Given the description of an element on the screen output the (x, y) to click on. 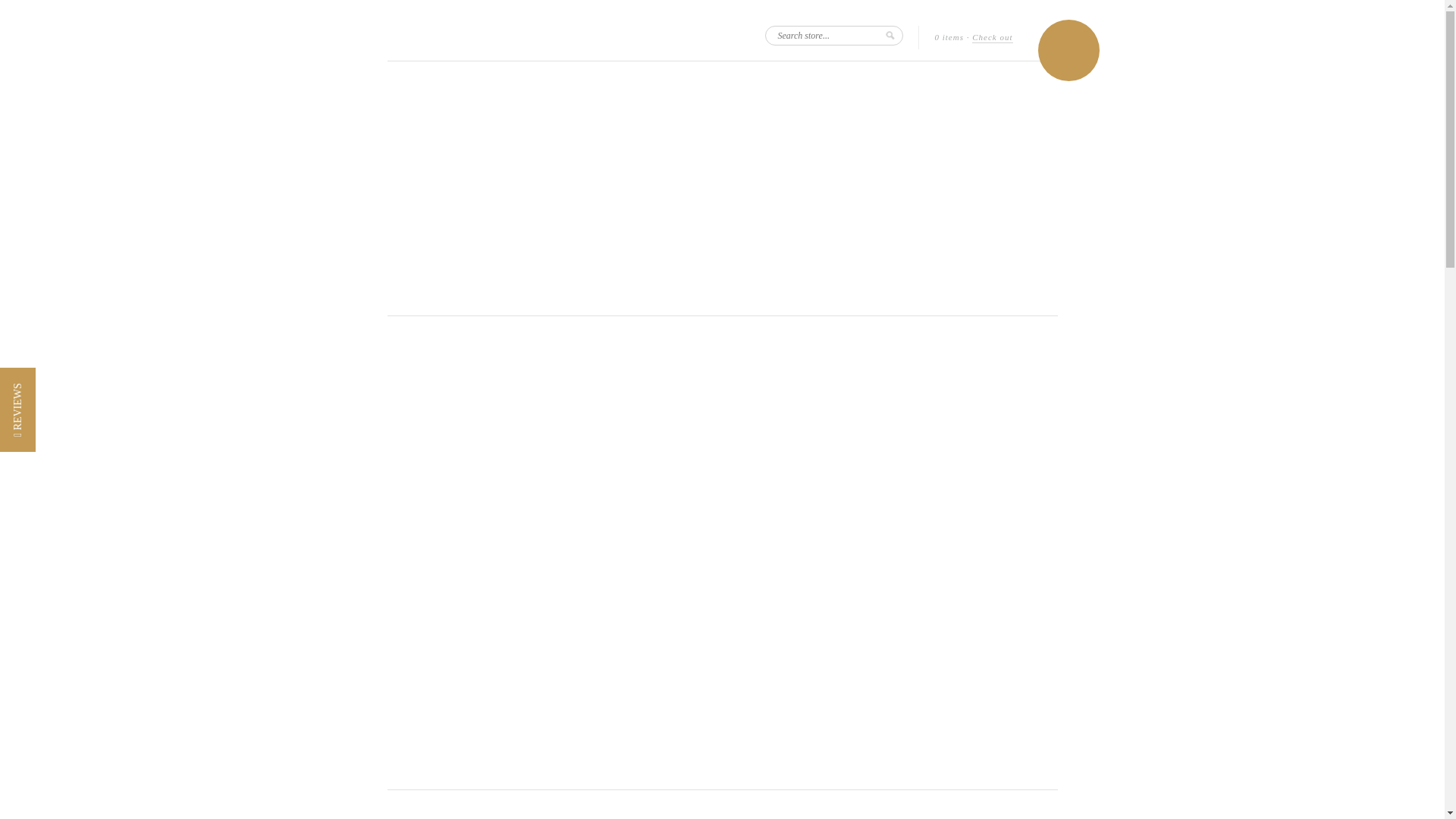
Check out Element type: text (992, 37)
View Cart Element type: hover (1067, 50)
0 items Element type: text (948, 37)
